Given the description of an element on the screen output the (x, y) to click on. 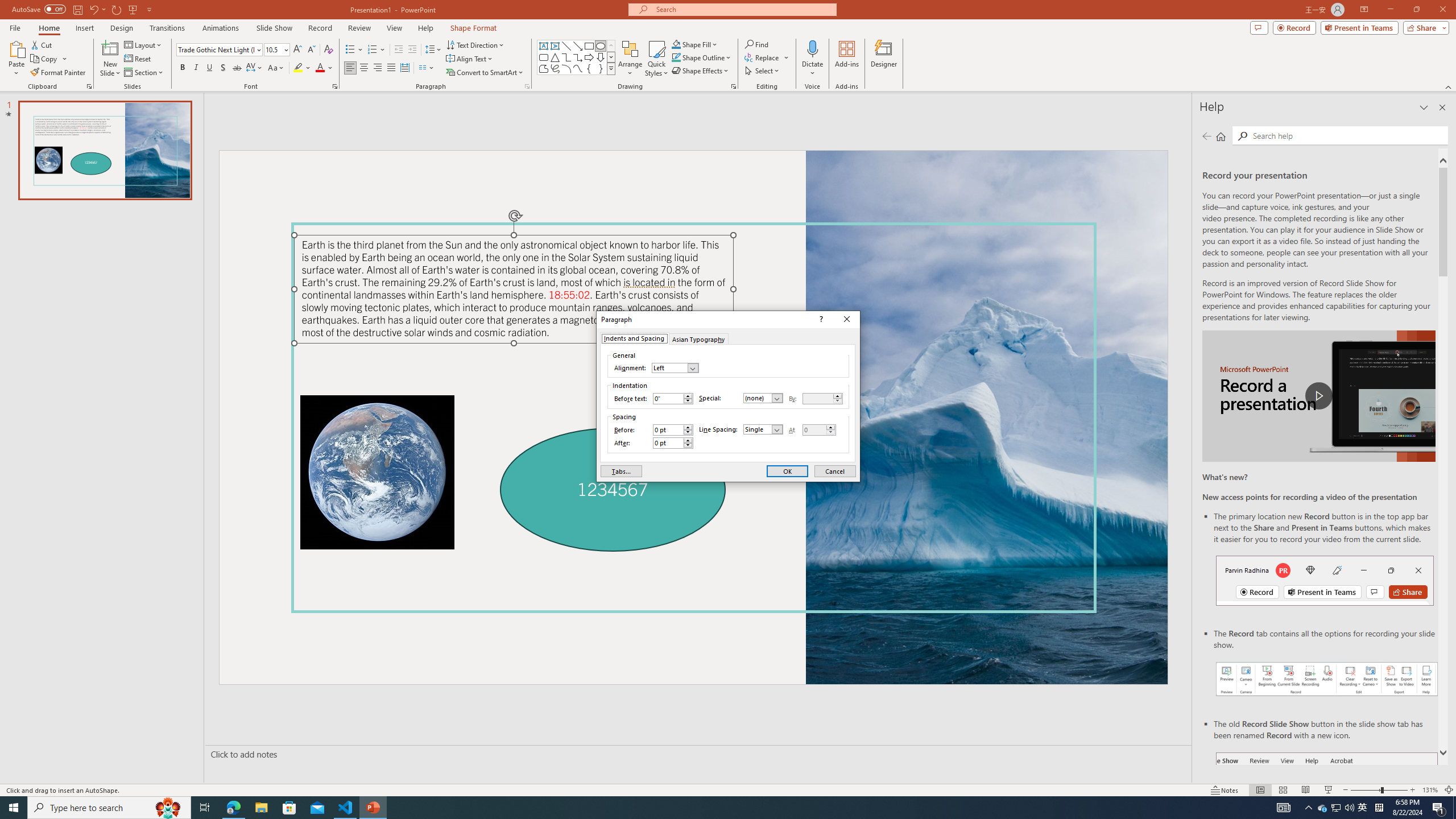
Record your presentations screenshot one (1326, 678)
Alignment (675, 367)
